Given the description of an element on the screen output the (x, y) to click on. 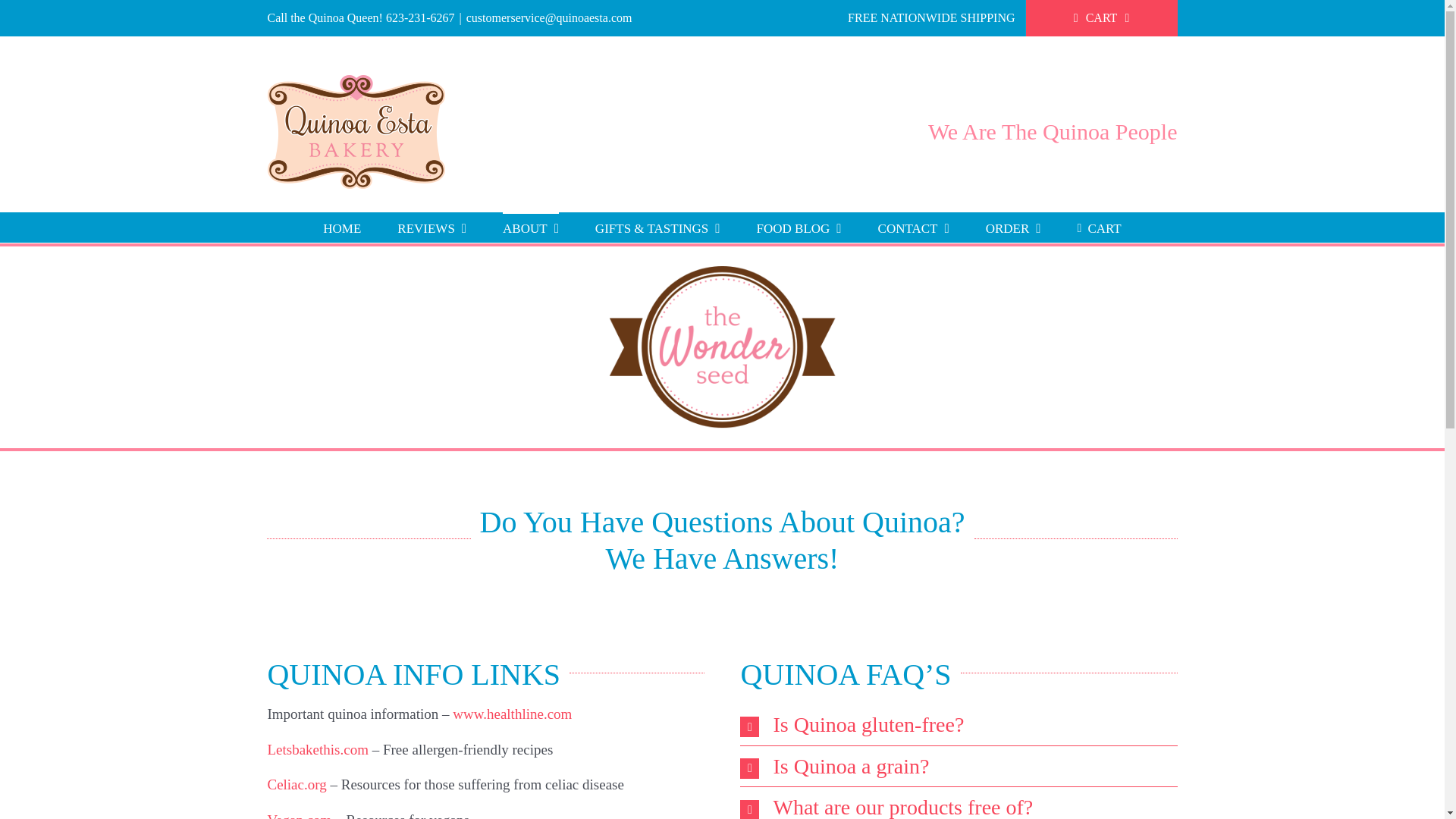
Contact Quinoa Esta Bakery (913, 227)
Quinoa Esta Bakery Reviews (431, 227)
REVIEWS (431, 227)
CONTACT (913, 227)
ORDER (1013, 227)
ABOUT (530, 227)
CART (1101, 18)
HOME (342, 227)
CART (1099, 227)
FREE NATIONWIDE SHIPPING (931, 18)
FOOD BLOG (799, 227)
